Given the description of an element on the screen output the (x, y) to click on. 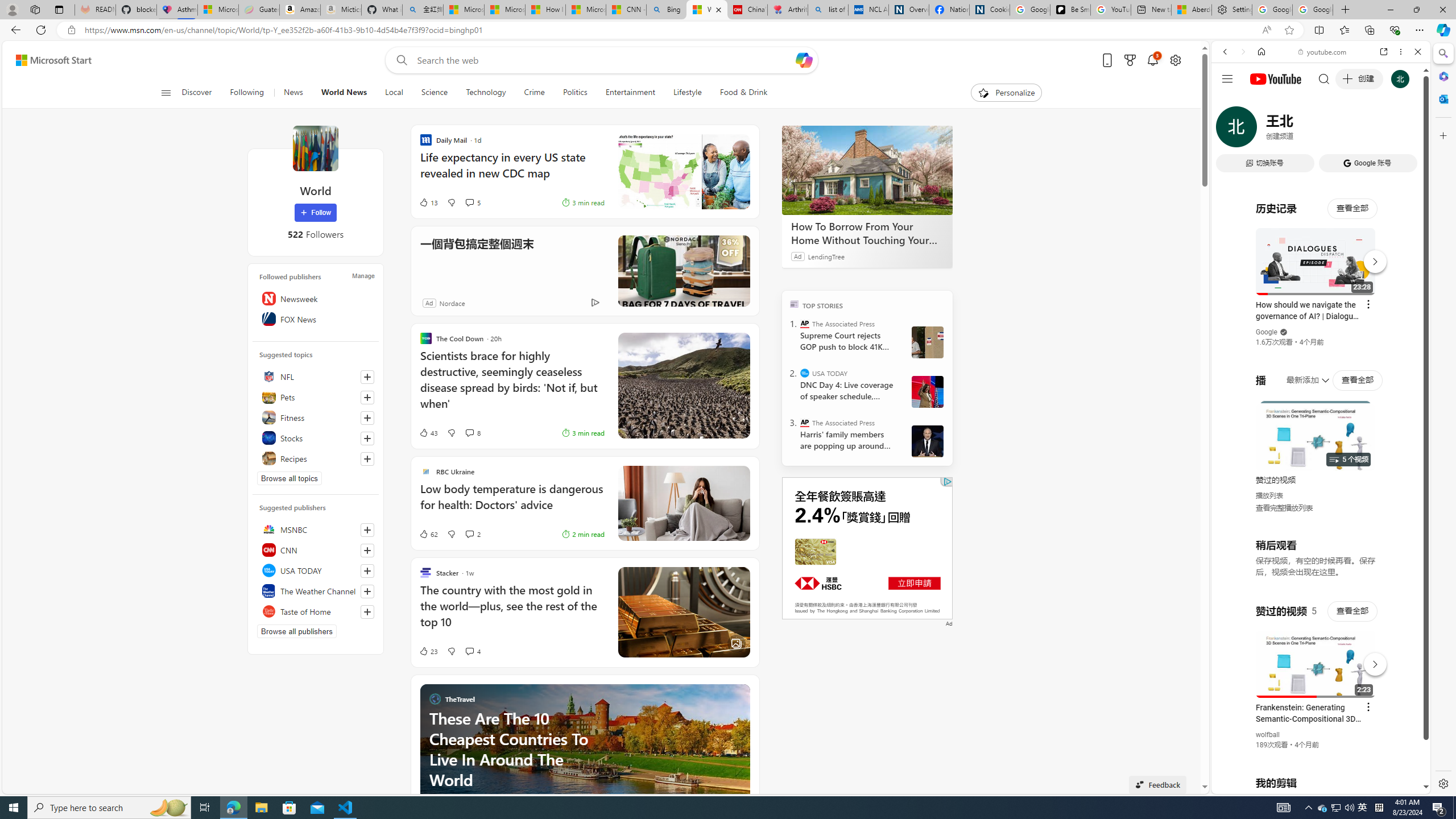
World News (344, 92)
Ad Choice (595, 302)
Trailer #2 [HD] (1320, 336)
Global web icon (1232, 655)
World News (343, 92)
Web search (398, 60)
Crime (534, 92)
